Given the description of an element on the screen output the (x, y) to click on. 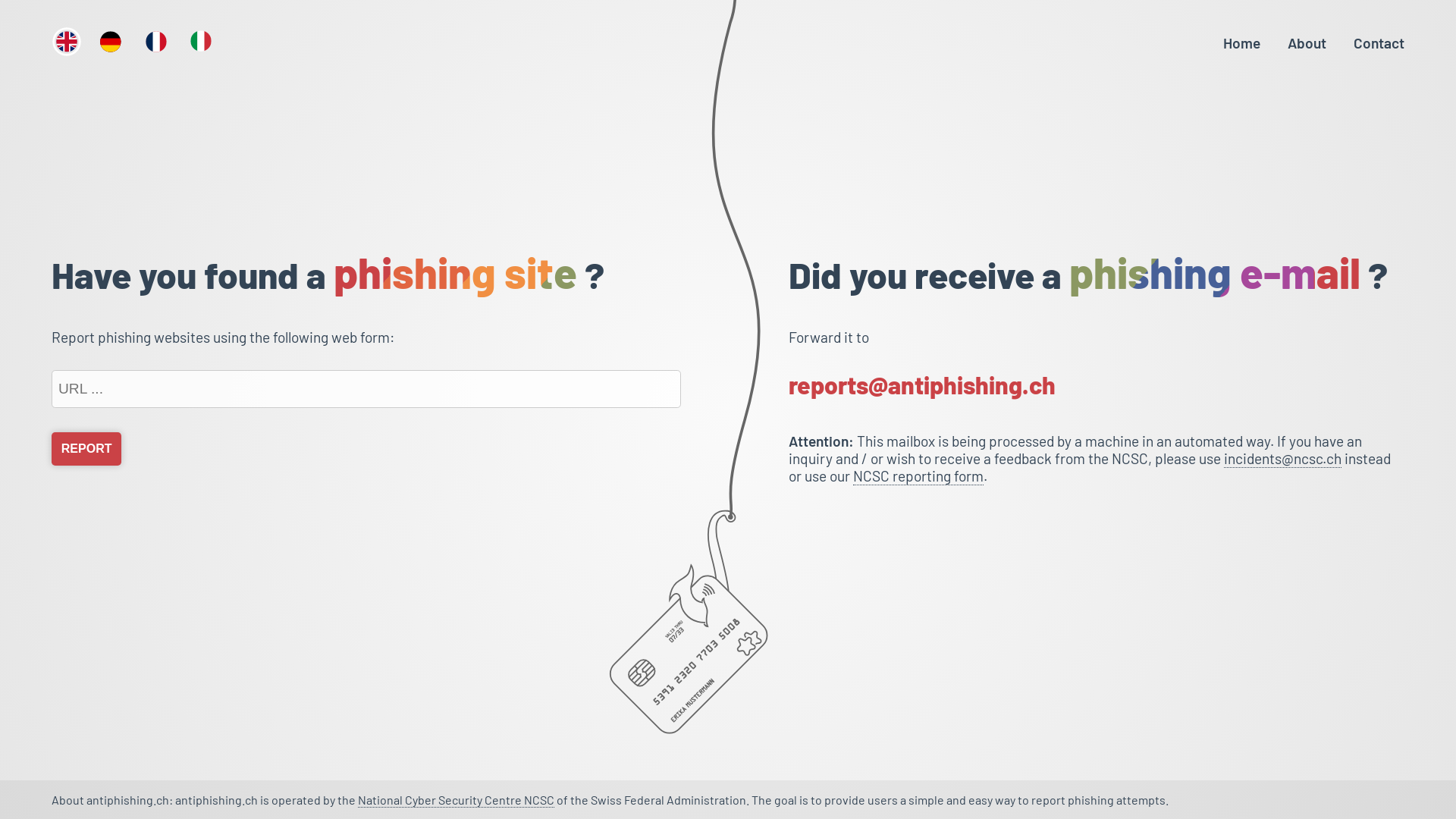
Home Element type: text (1241, 41)
About Element type: text (1306, 41)
REPORT Element type: text (86, 448)
incidents@ncsc.ch Element type: text (1282, 458)
NCSC reporting form Element type: text (918, 476)
reports@antiphishing.ch Element type: text (1096, 388)
Contact Element type: text (1378, 41)
National Cyber Security Centre NCSC Element type: text (455, 799)
